Given the description of an element on the screen output the (x, y) to click on. 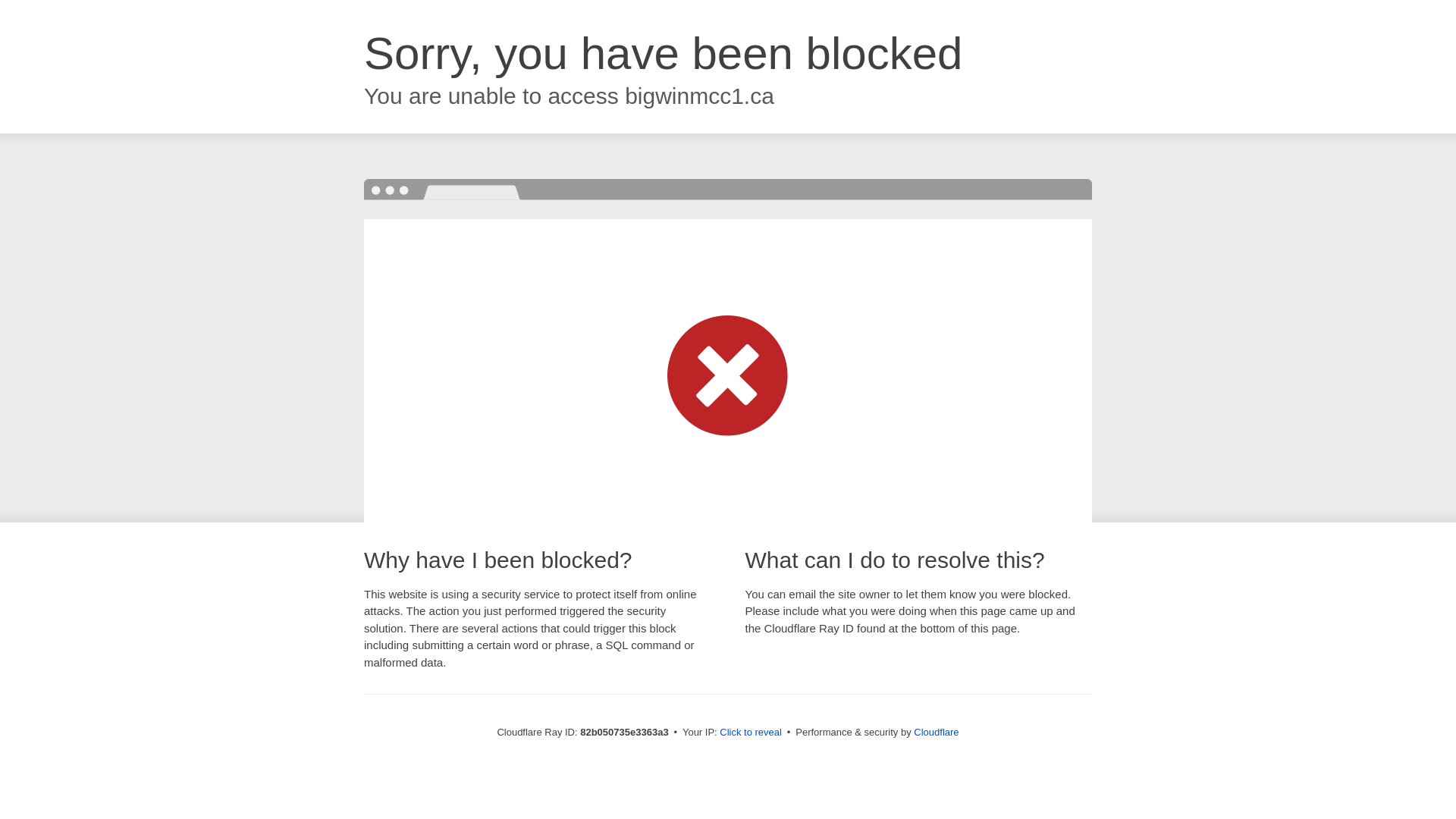
Cloudflare Element type: text (935, 731)
Click to reveal Element type: text (750, 732)
